Given the description of an element on the screen output the (x, y) to click on. 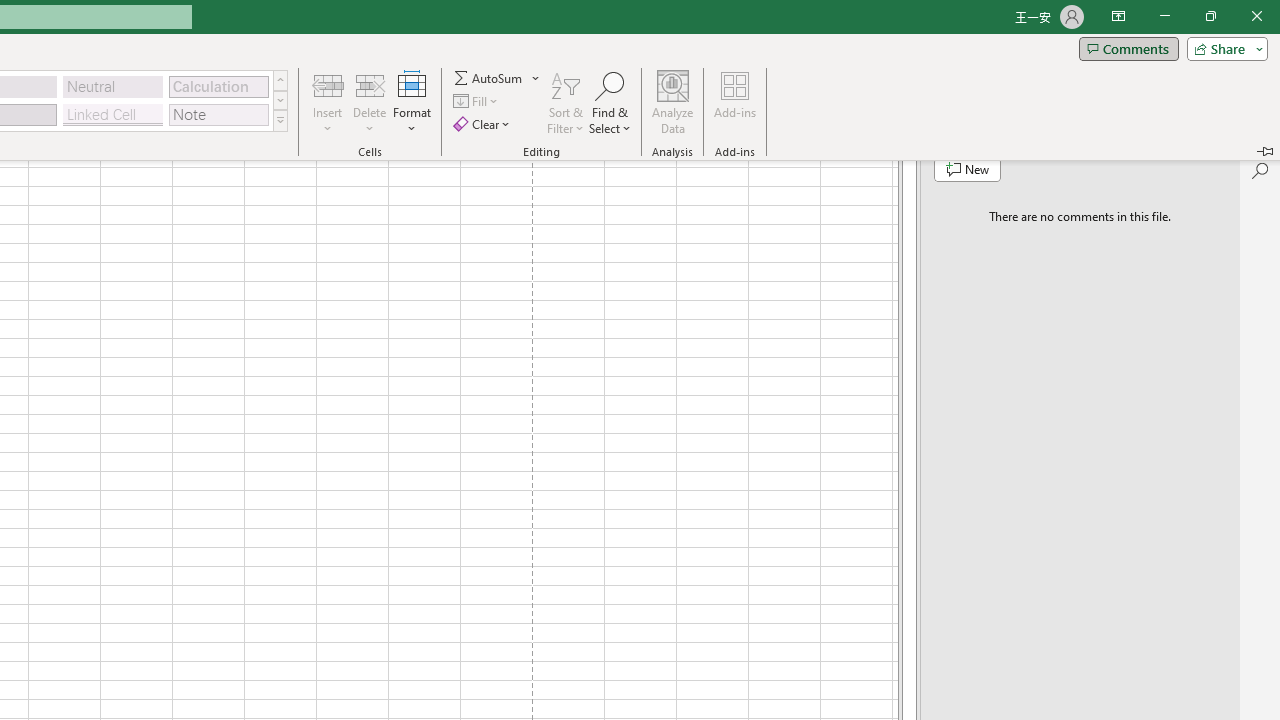
Share (1223, 48)
Restore Down (1210, 16)
Comments (1128, 48)
Minimize (1164, 16)
Ribbon Display Options (1118, 16)
Close (1256, 16)
